Given the description of an element on the screen output the (x, y) to click on. 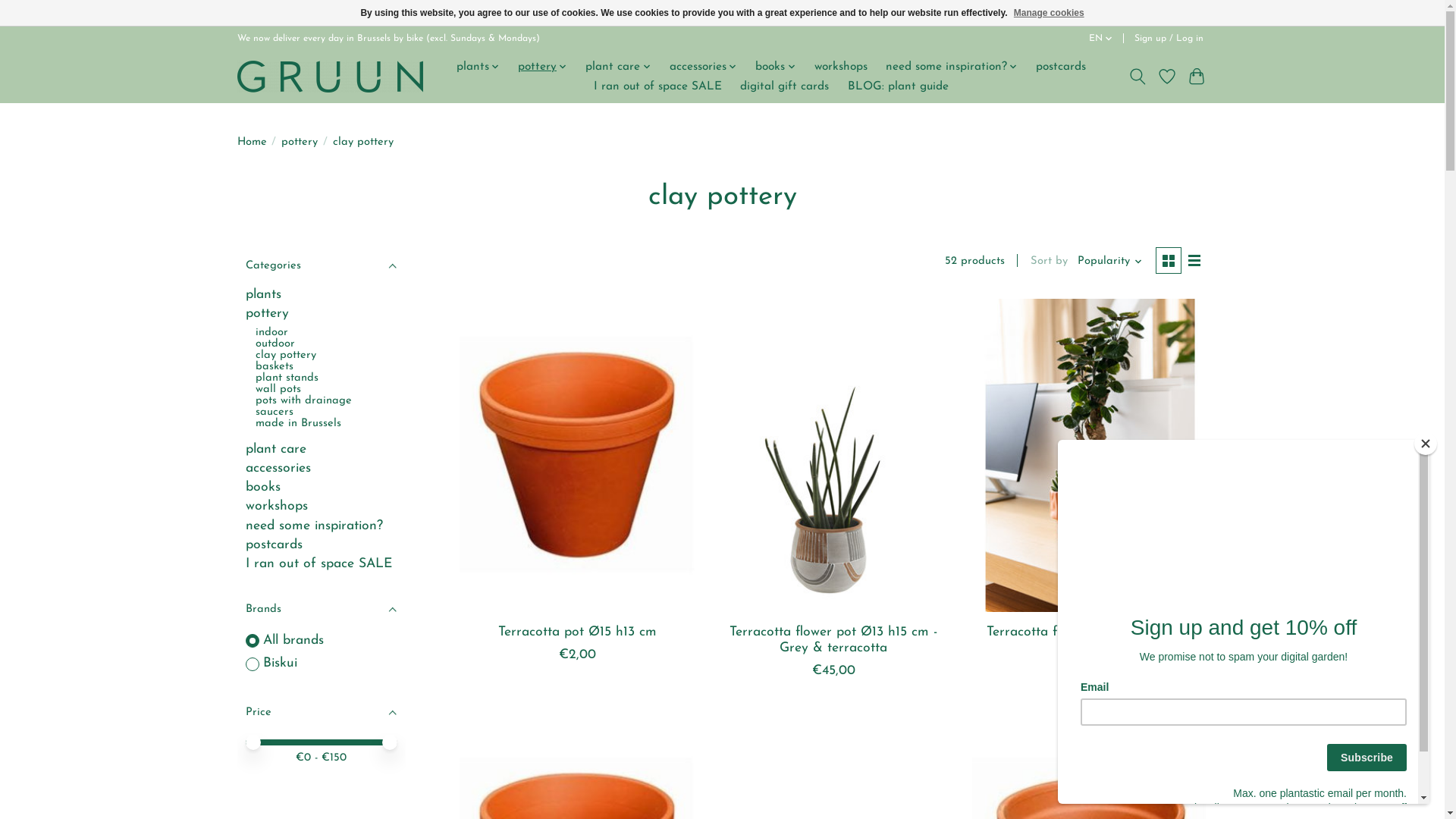
plant stands Element type: text (286, 377)
Sign up / Log in Element type: text (1168, 38)
plant care Element type: text (275, 448)
postcards Element type: text (273, 544)
saucers Element type: text (274, 411)
I ran out of space SALE Element type: text (657, 86)
workshops Element type: text (840, 66)
books Element type: text (775, 66)
indoor Element type: text (271, 332)
Brands Element type: text (320, 609)
postcards Element type: text (1060, 66)
Manage cookies Element type: text (1048, 12)
need some inspiration? Element type: text (951, 66)
Popularity Element type: text (1109, 260)
Price Element type: text (320, 711)
accessories Element type: text (703, 66)
Categories Element type: text (320, 265)
BLOG: plant guide Element type: text (897, 86)
baskets Element type: text (274, 366)
outdoor Element type: text (274, 343)
pottery Element type: text (542, 66)
GRUUN Element type: hover (329, 76)
accessories Element type: text (277, 467)
need some inspiration? Element type: text (313, 525)
workshops Element type: text (276, 505)
I ran out of space SALE Element type: text (318, 563)
pottery Element type: text (266, 313)
wall pots Element type: text (278, 389)
Home Element type: text (251, 141)
pots with drainage Element type: text (303, 400)
clay pottery Element type: text (285, 354)
plant care Element type: text (618, 66)
pottery Element type: text (299, 141)
EN Element type: text (1100, 38)
plants Element type: text (477, 66)
digital gift cards Element type: text (784, 86)
plants Element type: text (263, 294)
made in Brussels Element type: text (298, 423)
books Element type: text (262, 486)
